Given the description of an element on the screen output the (x, y) to click on. 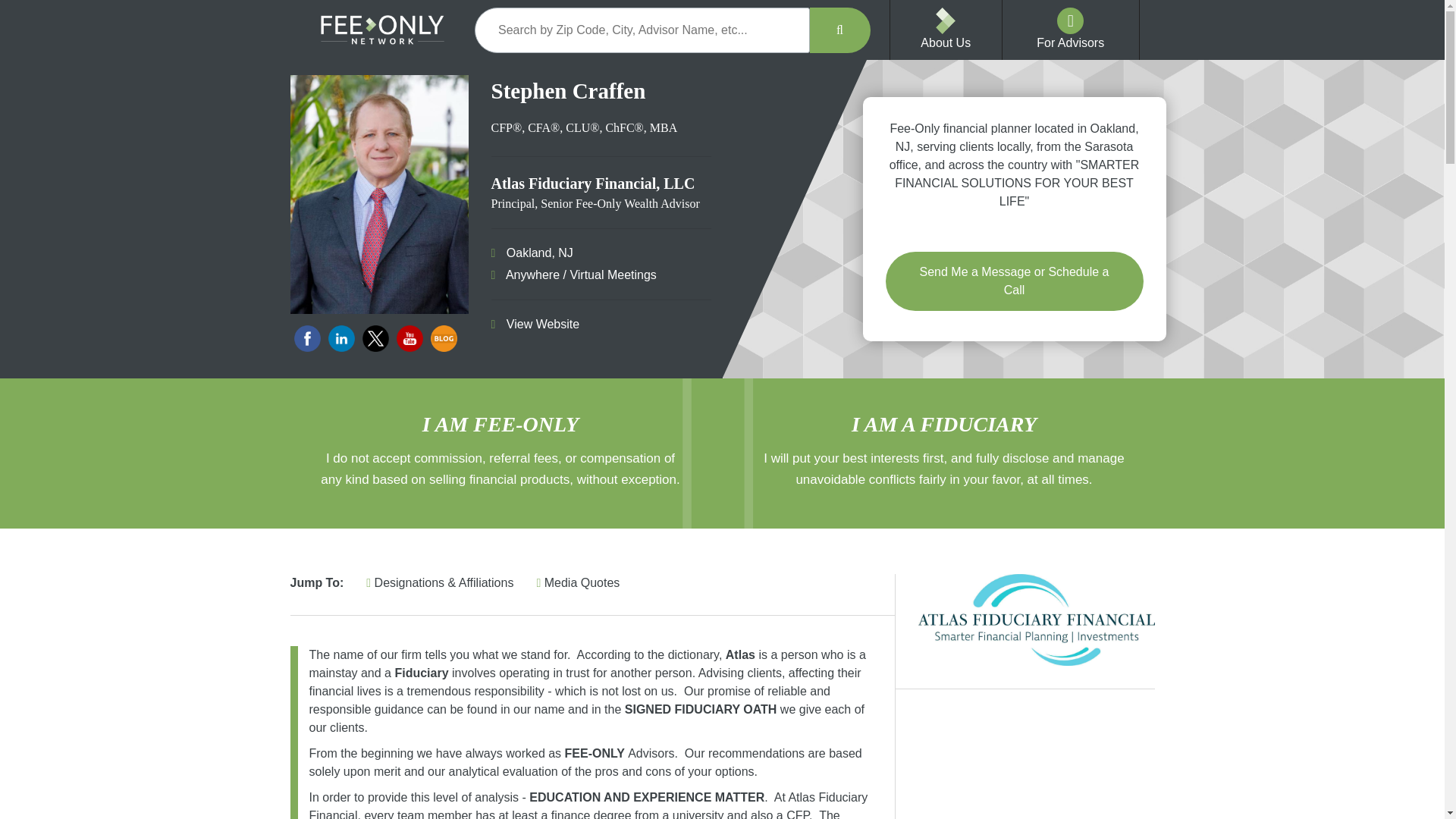
Stephen Craffen (378, 194)
Media Quotes (577, 583)
Log In (1232, 78)
Atlas Fiduciary Financial, LLC (1035, 619)
FeeOnlyNetwork.com (382, 30)
Send Me a Message or Schedule a Call (1013, 281)
About Us (945, 42)
View Website (537, 323)
